Given the description of an element on the screen output the (x, y) to click on. 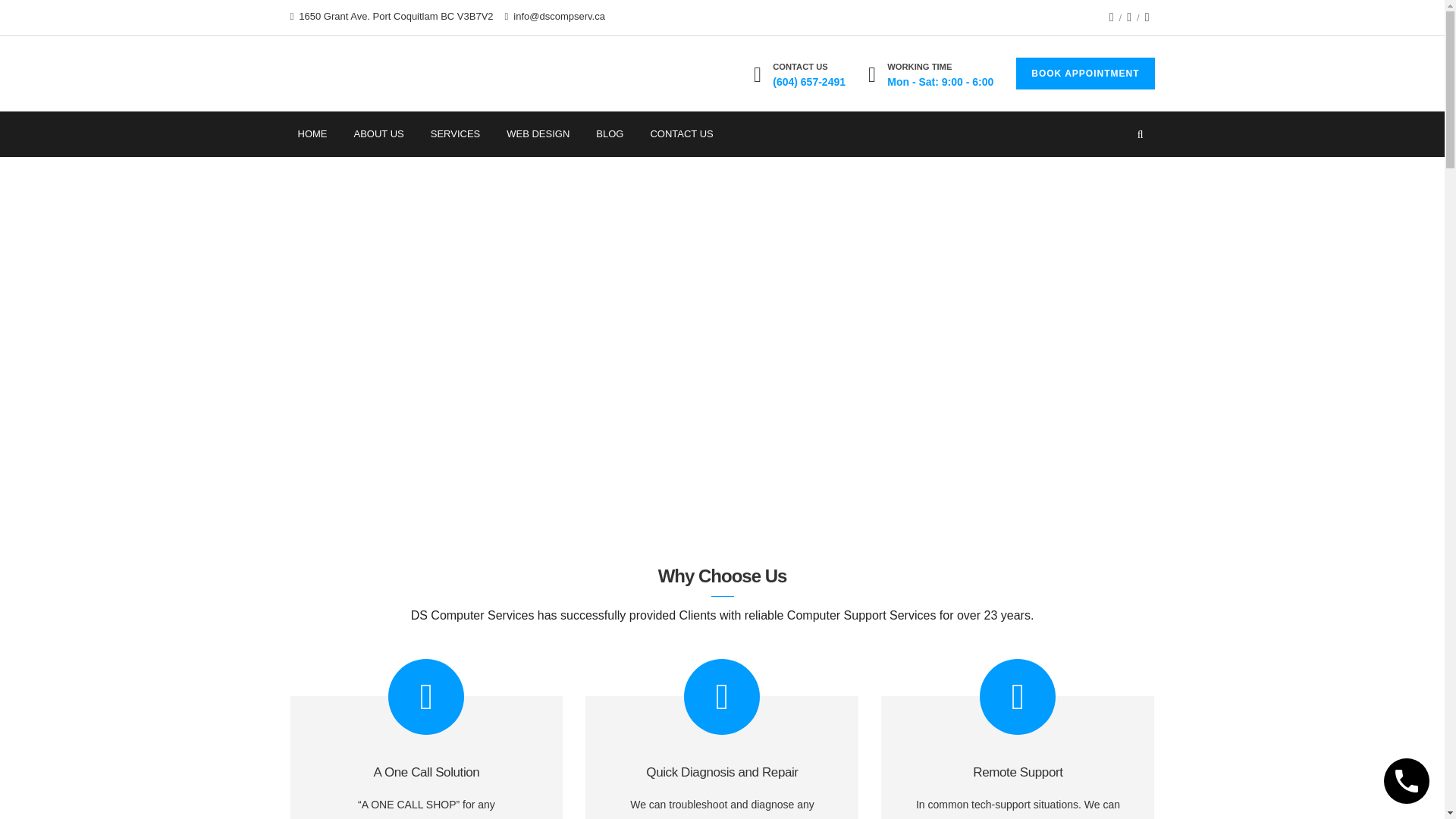
SERVICES (455, 134)
ABOUT US (378, 134)
DS Computer Services (349, 73)
Facebook (1111, 17)
BLOG (609, 134)
WEB DESIGN (537, 134)
CONTACT US (681, 134)
LinkedIn (1129, 17)
BOOK APPOINTMENT (1085, 73)
Email (1147, 17)
